Given the description of an element on the screen output the (x, y) to click on. 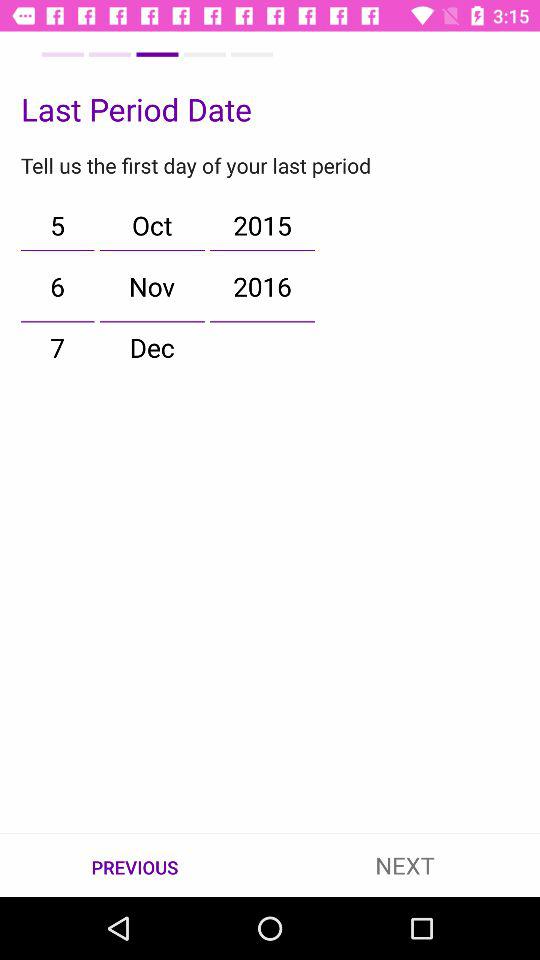
open previous icon (135, 865)
